Given the description of an element on the screen output the (x, y) to click on. 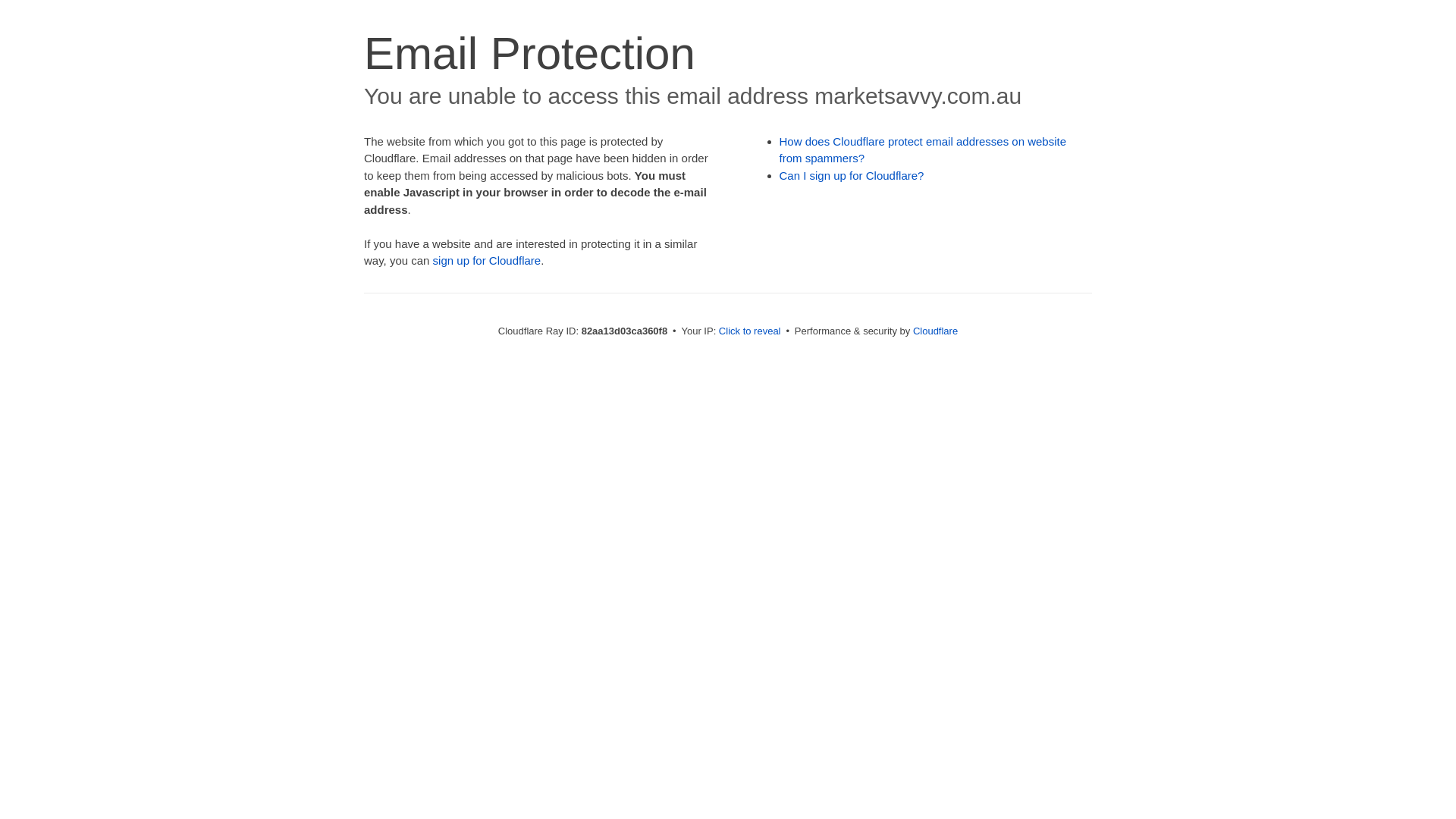
Click to reveal Element type: text (749, 330)
Can I sign up for Cloudflare? Element type: text (851, 175)
Cloudflare Element type: text (935, 330)
sign up for Cloudflare Element type: text (487, 260)
